Given the description of an element on the screen output the (x, y) to click on. 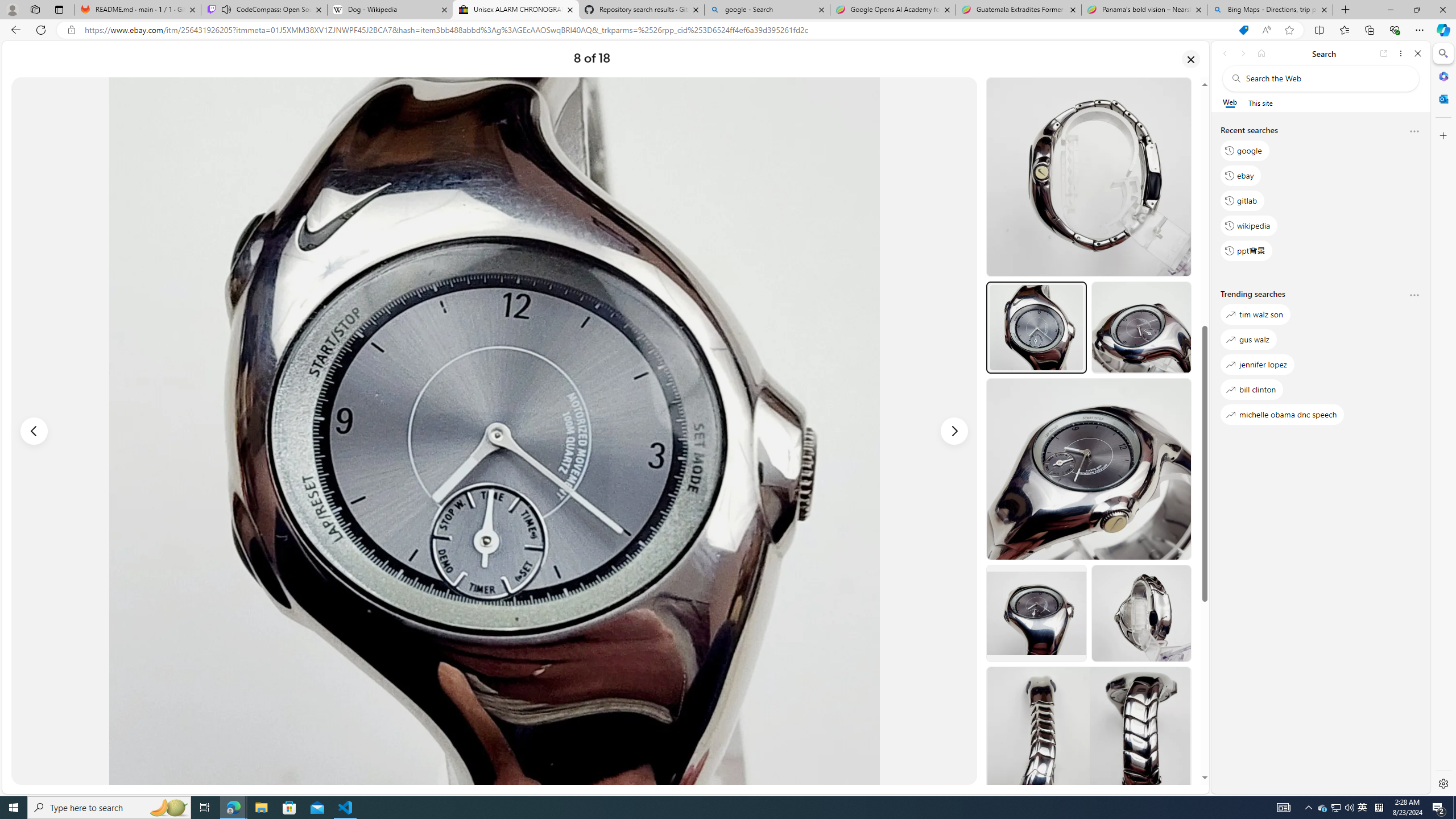
Dog - Wikipedia (389, 9)
Next image - Item images thumbnails (954, 430)
google (1244, 150)
